Given the description of an element on the screen output the (x, y) to click on. 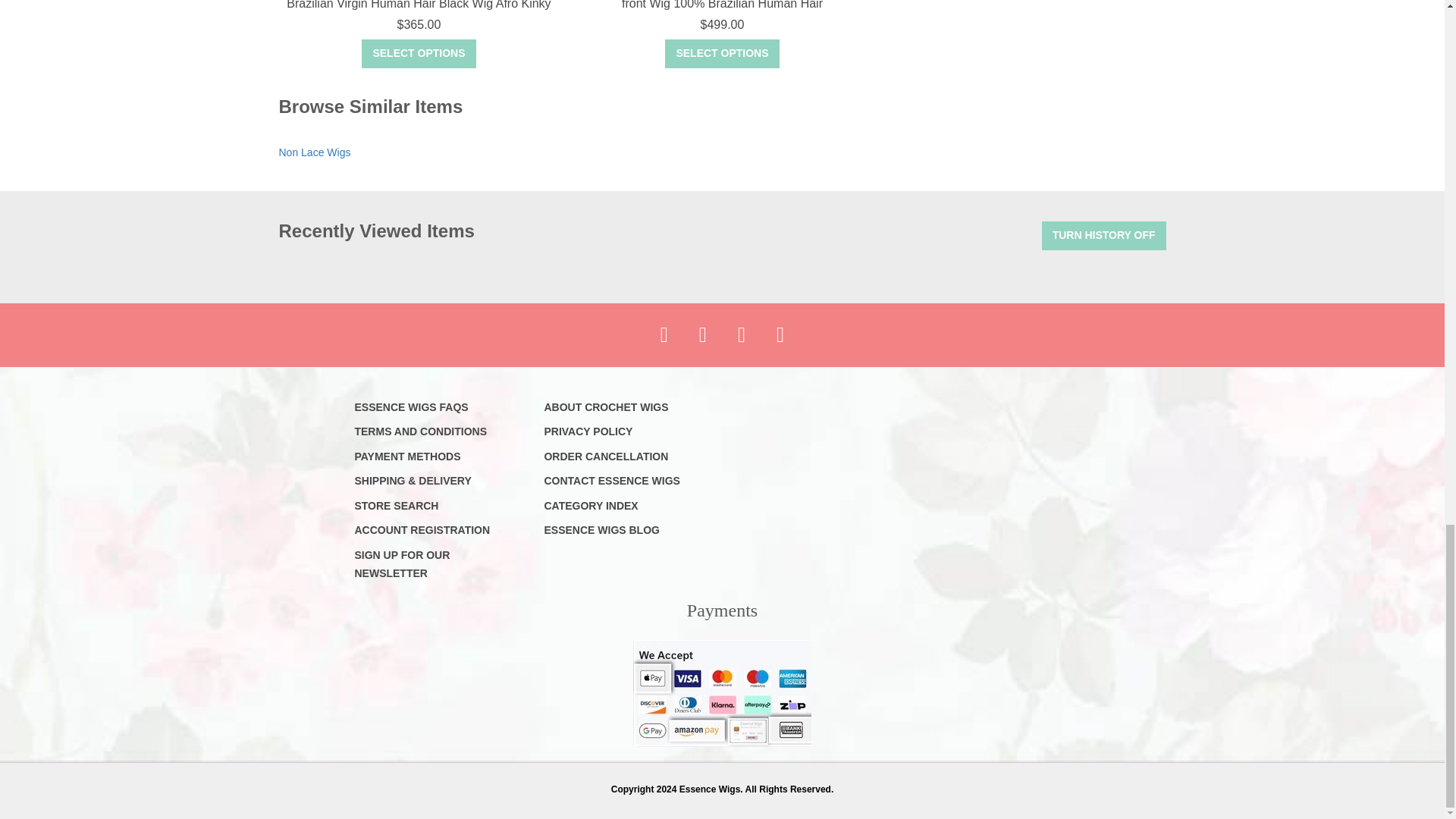
Follow Us on Tumblr (779, 334)
Follow Us on Pinterest (702, 334)
Subscribe to our Blog (663, 334)
Follow Us on Instagram (740, 334)
